Given the description of an element on the screen output the (x, y) to click on. 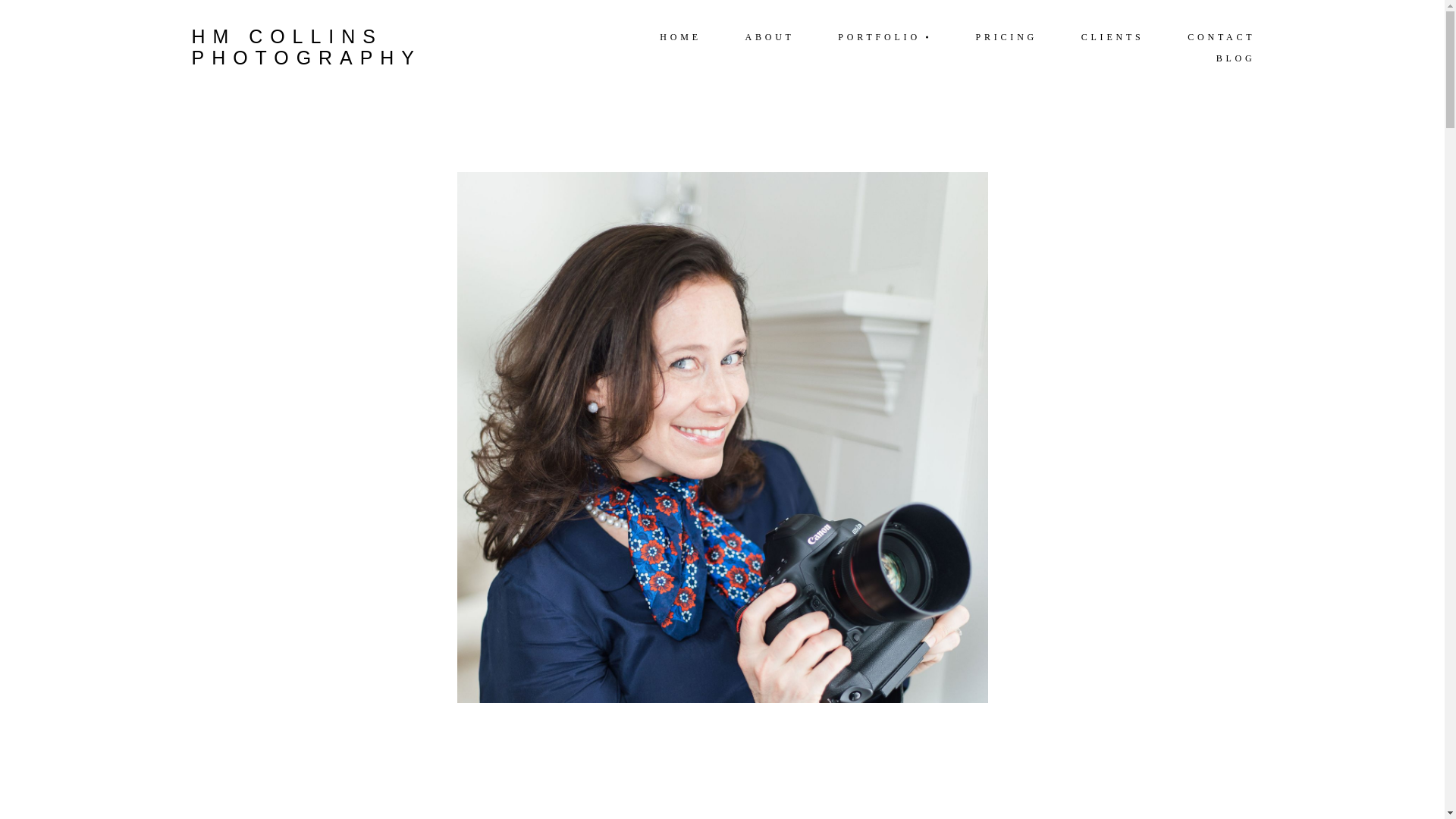
PRICING (1006, 37)
HM COLLINS PHOTOGRAPHY (382, 47)
PORTFOLIO (884, 37)
ABOUT (769, 37)
BLOG (1234, 58)
CONTACT (1221, 37)
HOME (679, 37)
CLIENTS (1112, 37)
